Given the description of an element on the screen output the (x, y) to click on. 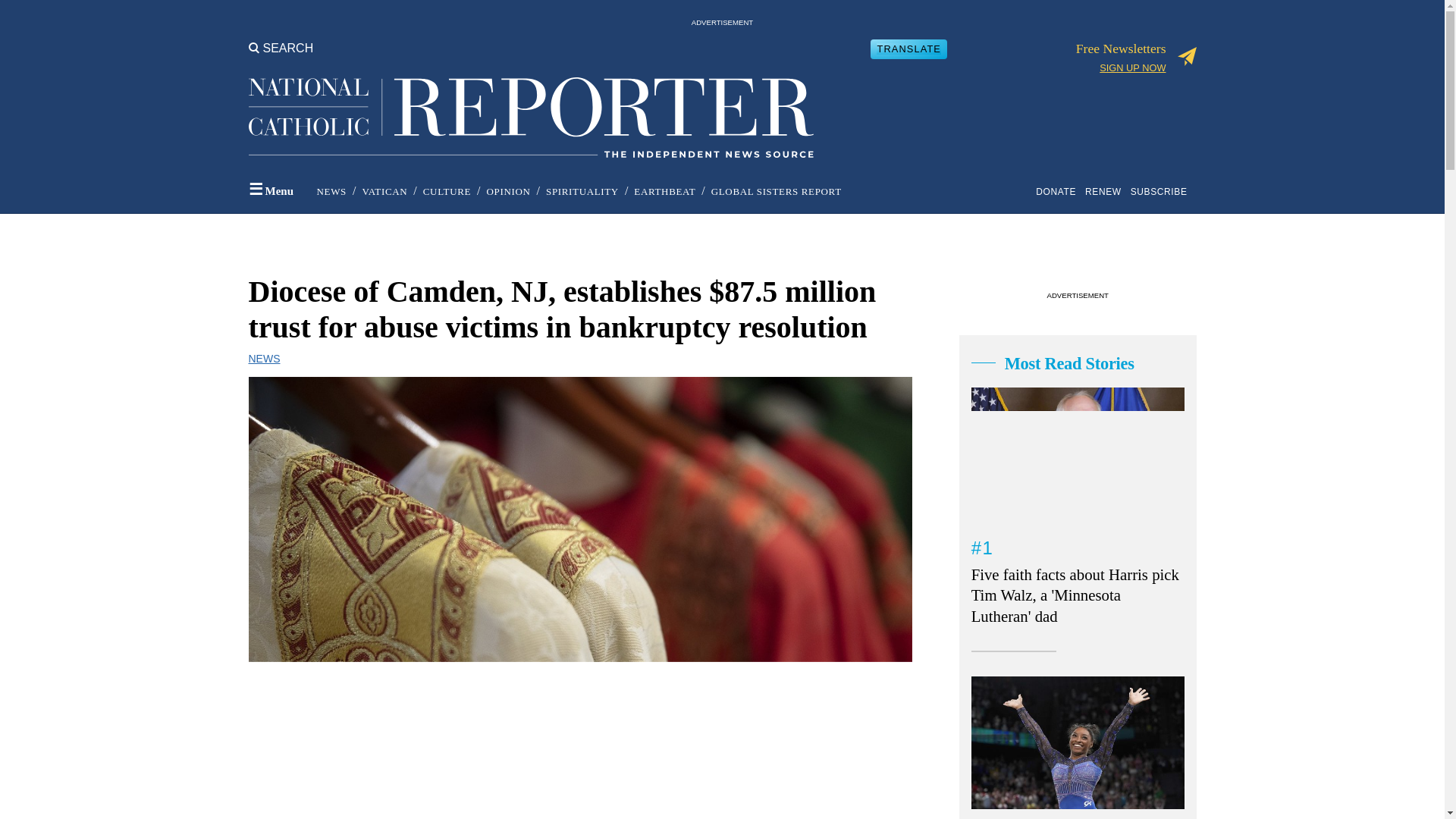
SPIRITUALITY (582, 191)
DONATE (1058, 190)
Back to National Catholic Reporter homepage (530, 105)
OPINION (508, 191)
VATICAN (384, 191)
NEWS (331, 191)
CULTURE (446, 191)
SIGN UP NOW (1132, 67)
TRANSLATE (908, 48)
